Given the description of an element on the screen output the (x, y) to click on. 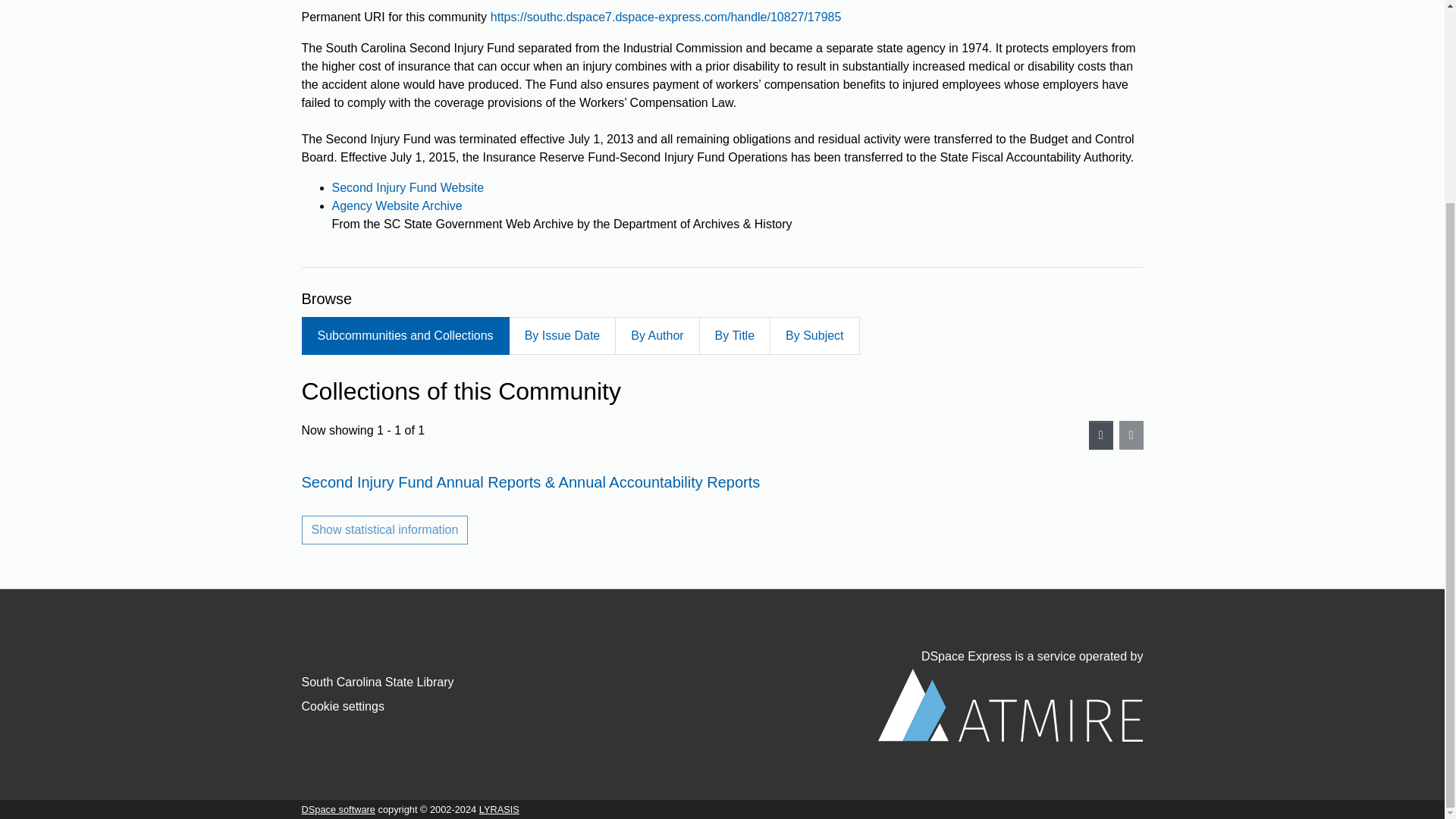
LYRASIS (499, 808)
Show statistical information (384, 529)
DSpace Express is a service operated by (1009, 696)
By Subject (814, 335)
By Author (656, 335)
South Carolina State Library (377, 681)
DSpace software (338, 808)
Cookie settings (342, 706)
By Title (734, 335)
Subcommunities and Collections (405, 335)
Second Injury Fund Website (407, 187)
Agency Website Archive (397, 205)
By Issue Date (561, 335)
